Given the description of an element on the screen output the (x, y) to click on. 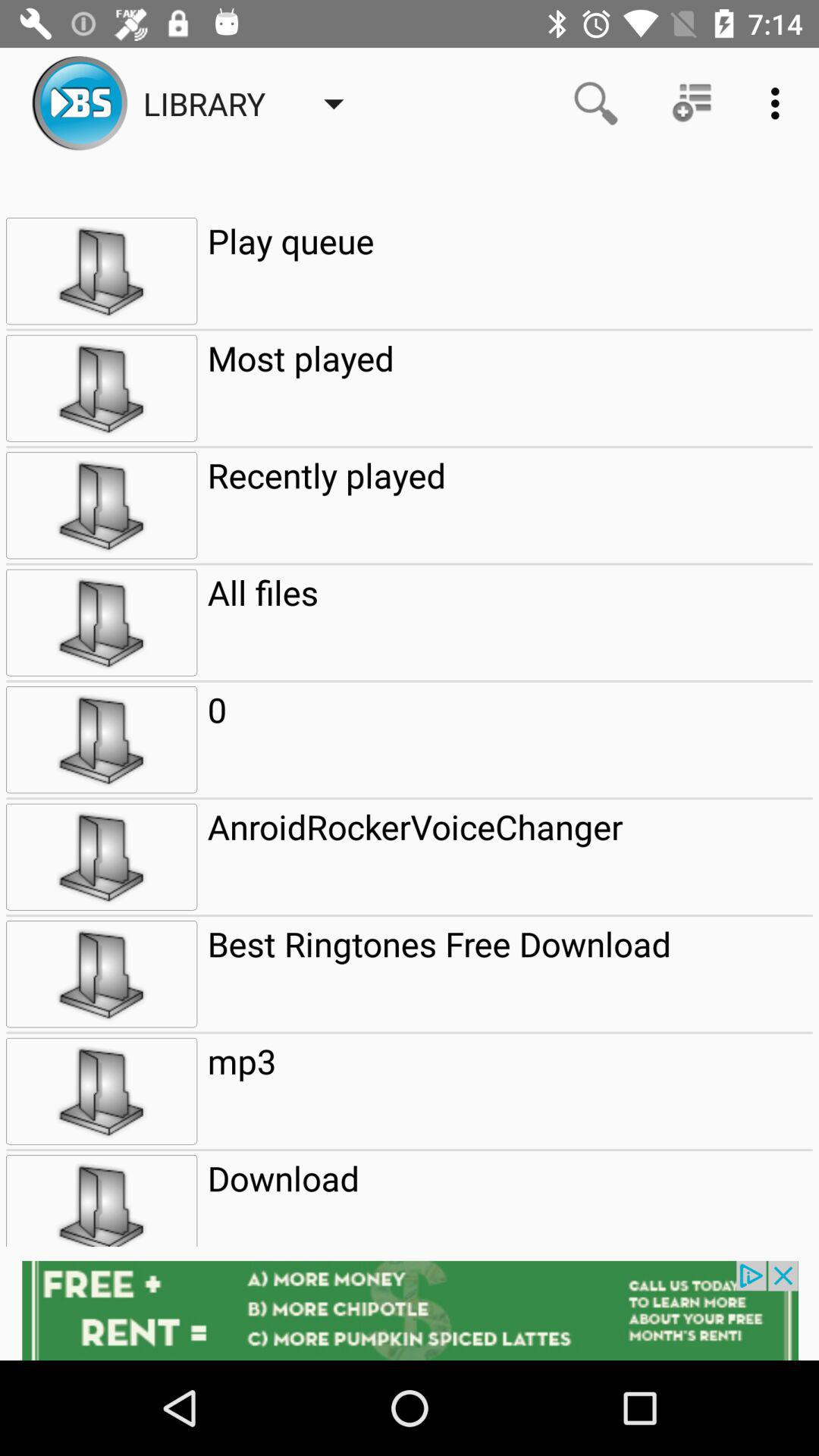
advertisemend (409, 1310)
